Given the description of an element on the screen output the (x, y) to click on. 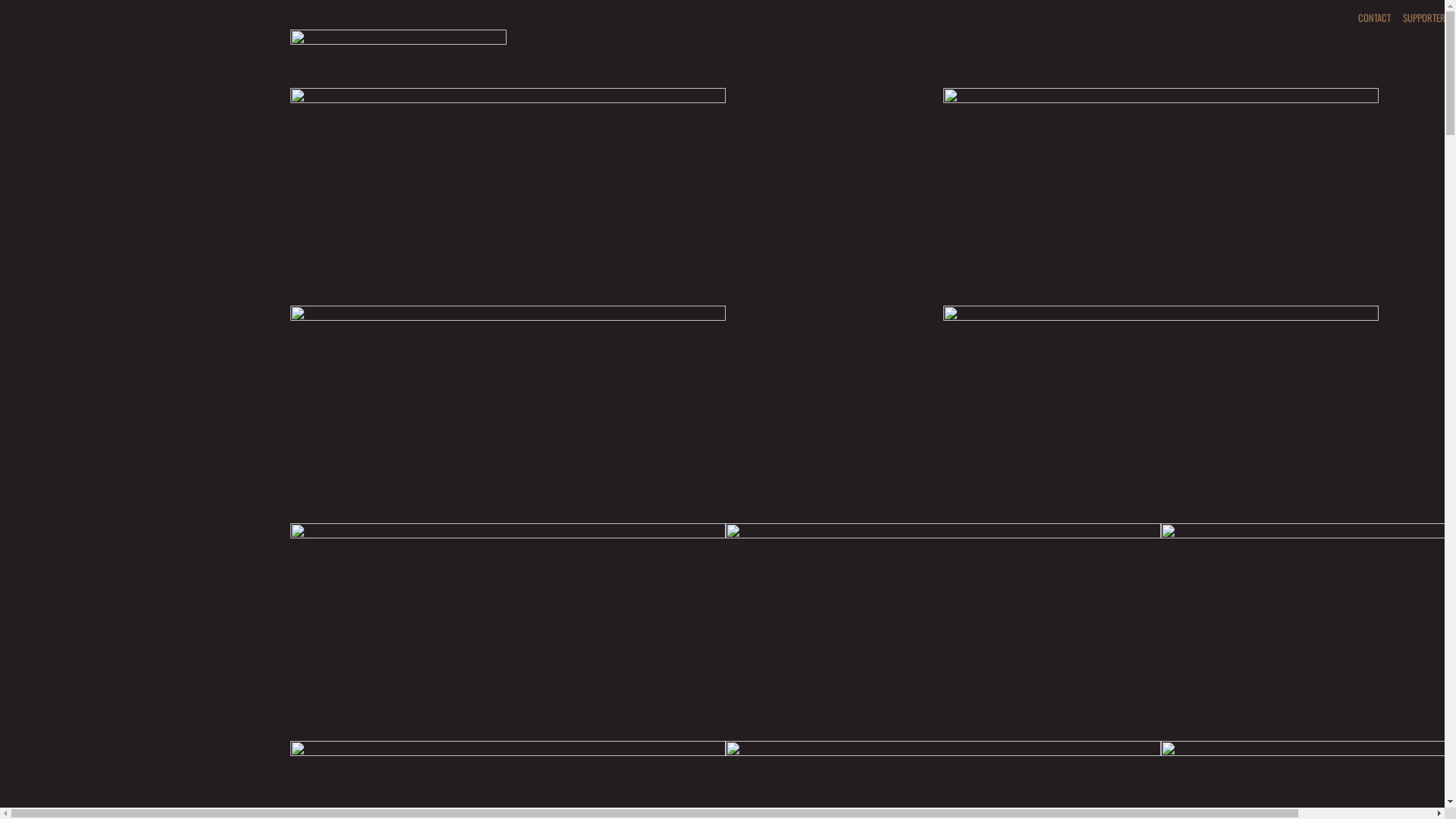
CONTACT Element type: text (1373, 17)
